Given the description of an element on the screen output the (x, y) to click on. 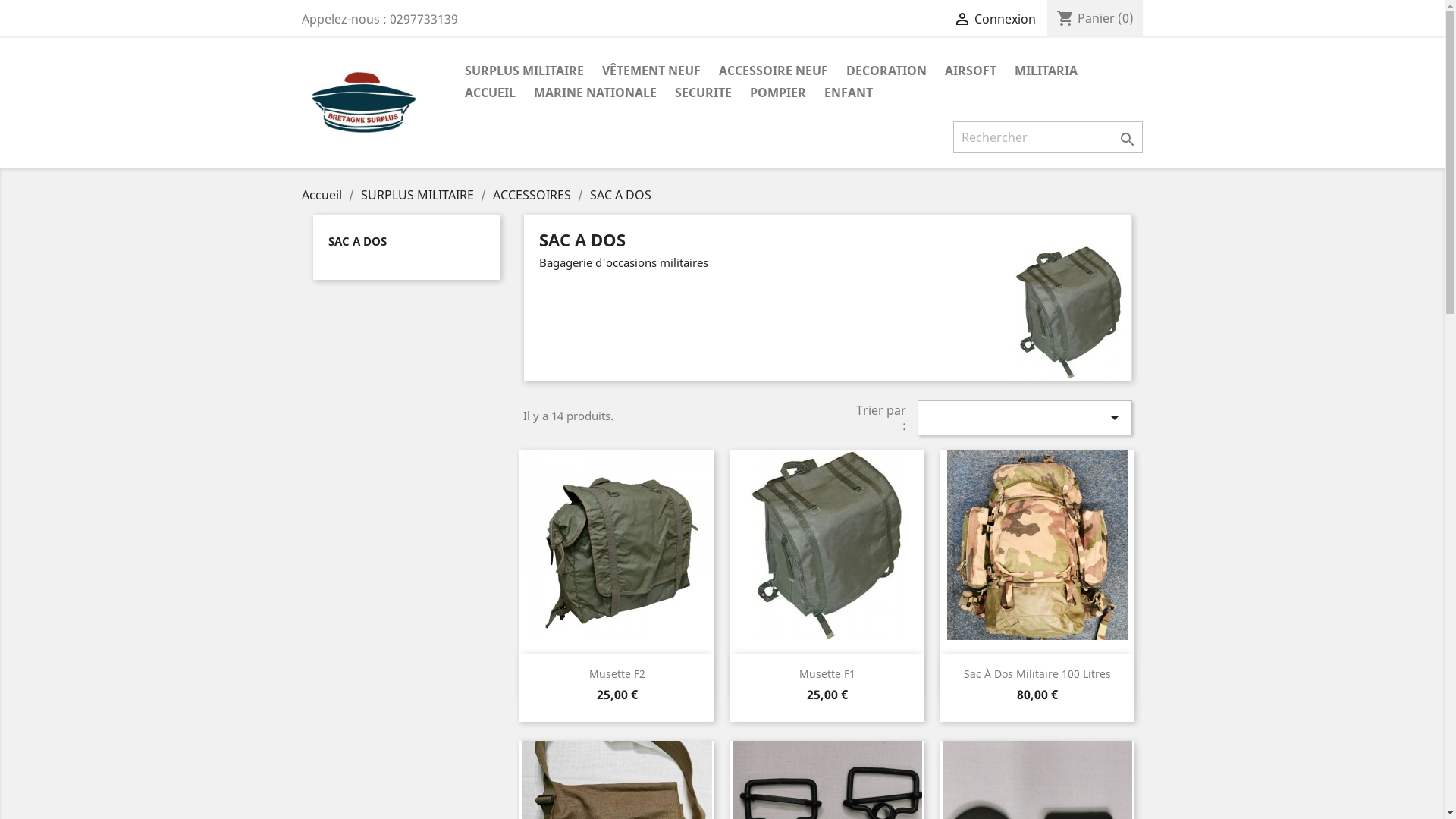
SECURITE Element type: text (703, 93)
ENFANT Element type: text (847, 93)
SAC A DOS Element type: text (620, 194)
MILITARIA Element type: text (1046, 71)
ACCESSOIRES Element type: text (533, 194)
POMPIER Element type: text (776, 93)
Musette F2 Element type: text (616, 673)
ACCUEIL Element type: text (489, 93)
SURPLUS MILITAIRE Element type: text (418, 194)
SAC A DOS Element type: text (356, 240)
Musette F1 Element type: text (827, 673)
DECORATION Element type: text (886, 71)
MARINE NATIONALE Element type: text (595, 93)
AIRSOFT Element type: text (970, 71)
ACCESSOIRE NEUF Element type: text (773, 71)
Accueil Element type: text (323, 194)
SURPLUS MILITAIRE Element type: text (523, 71)
